Given the description of an element on the screen output the (x, y) to click on. 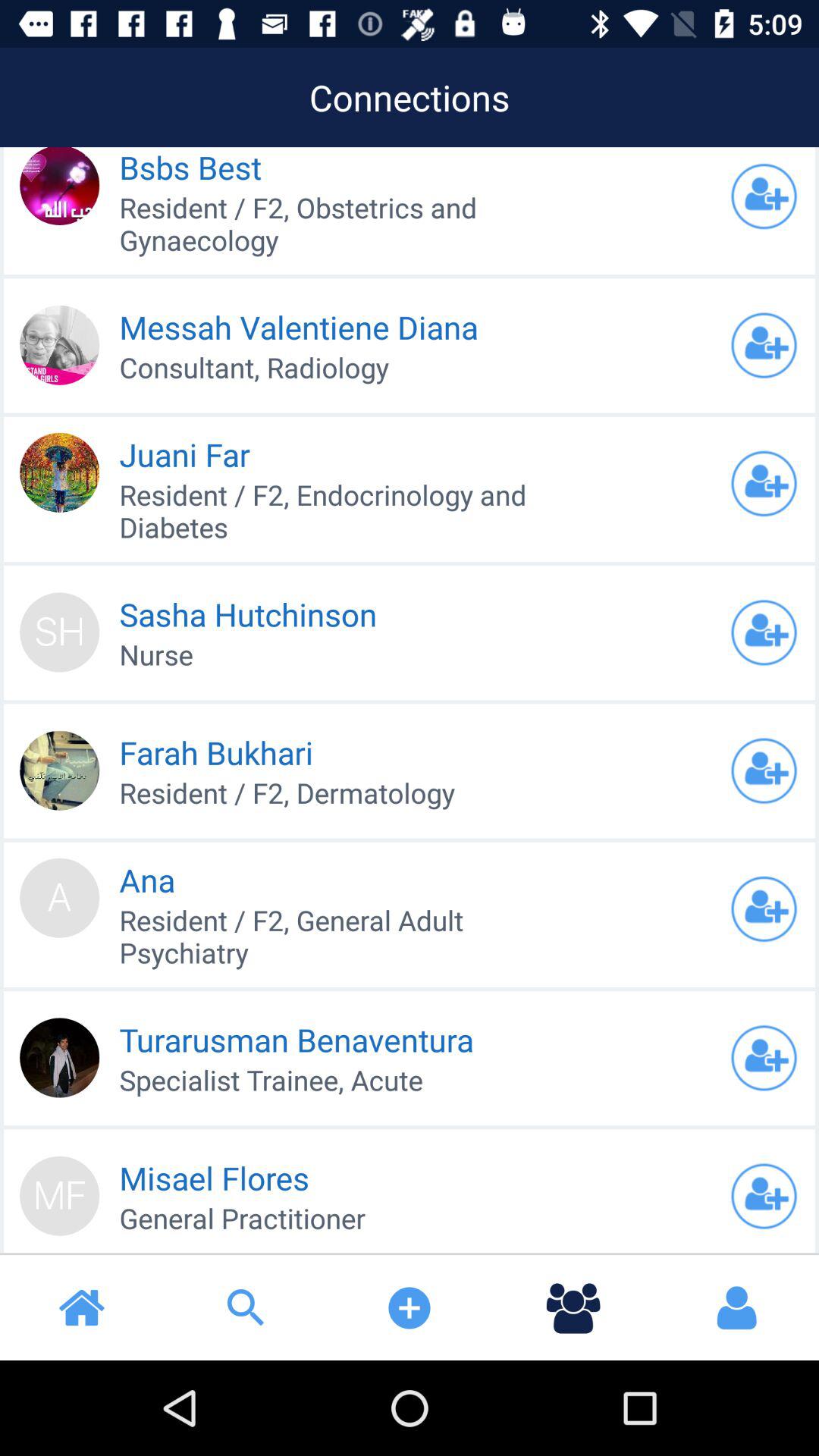
add contact (764, 483)
